Given the description of an element on the screen output the (x, y) to click on. 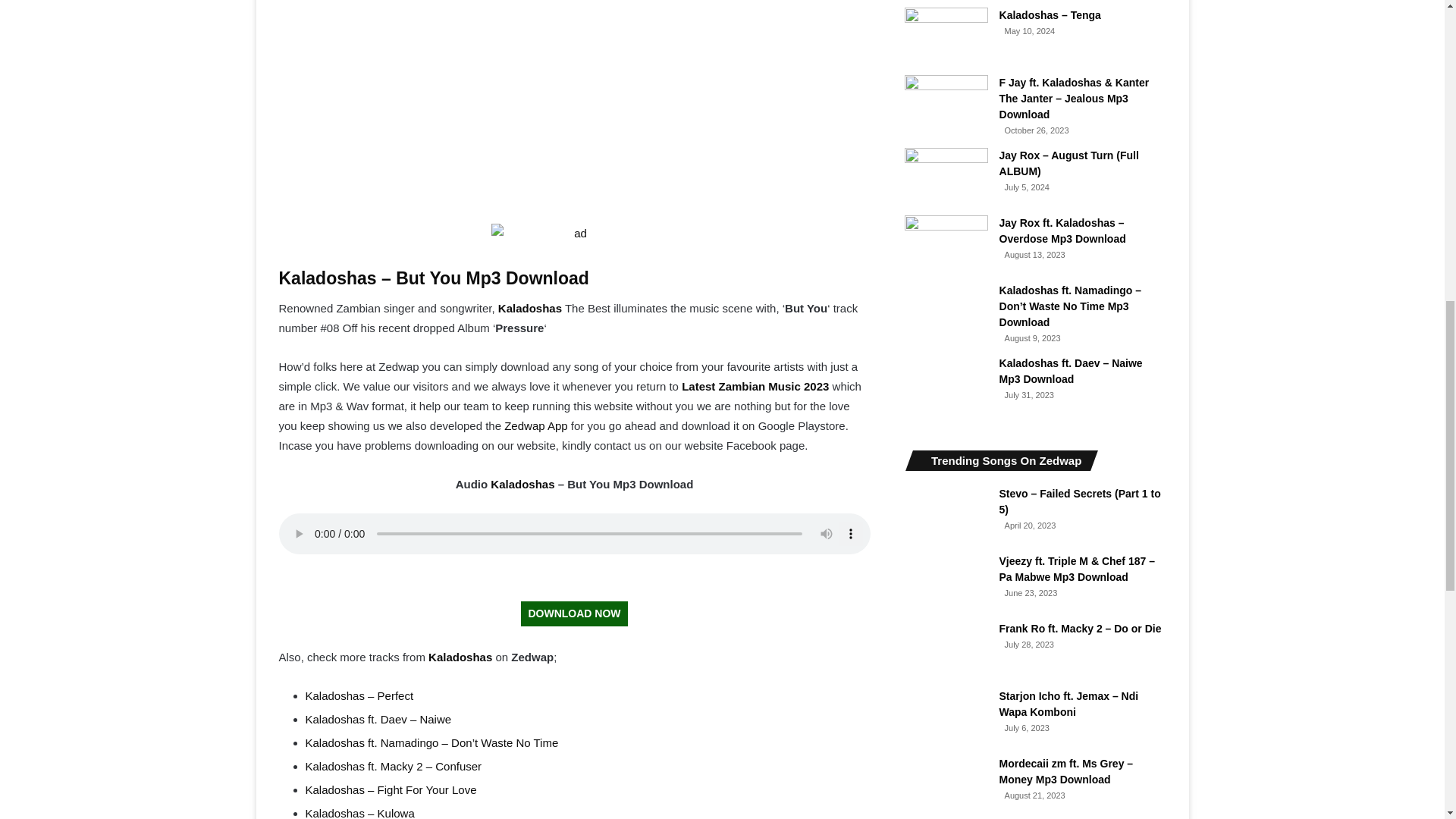
Kaladoshas (529, 308)
Zedwap App (535, 425)
Kaladoshas (460, 656)
DOWNLOAD NOW (574, 613)
Kaladoshas (522, 483)
Latest Zambian Music 2023 (754, 386)
